Given the description of an element on the screen output the (x, y) to click on. 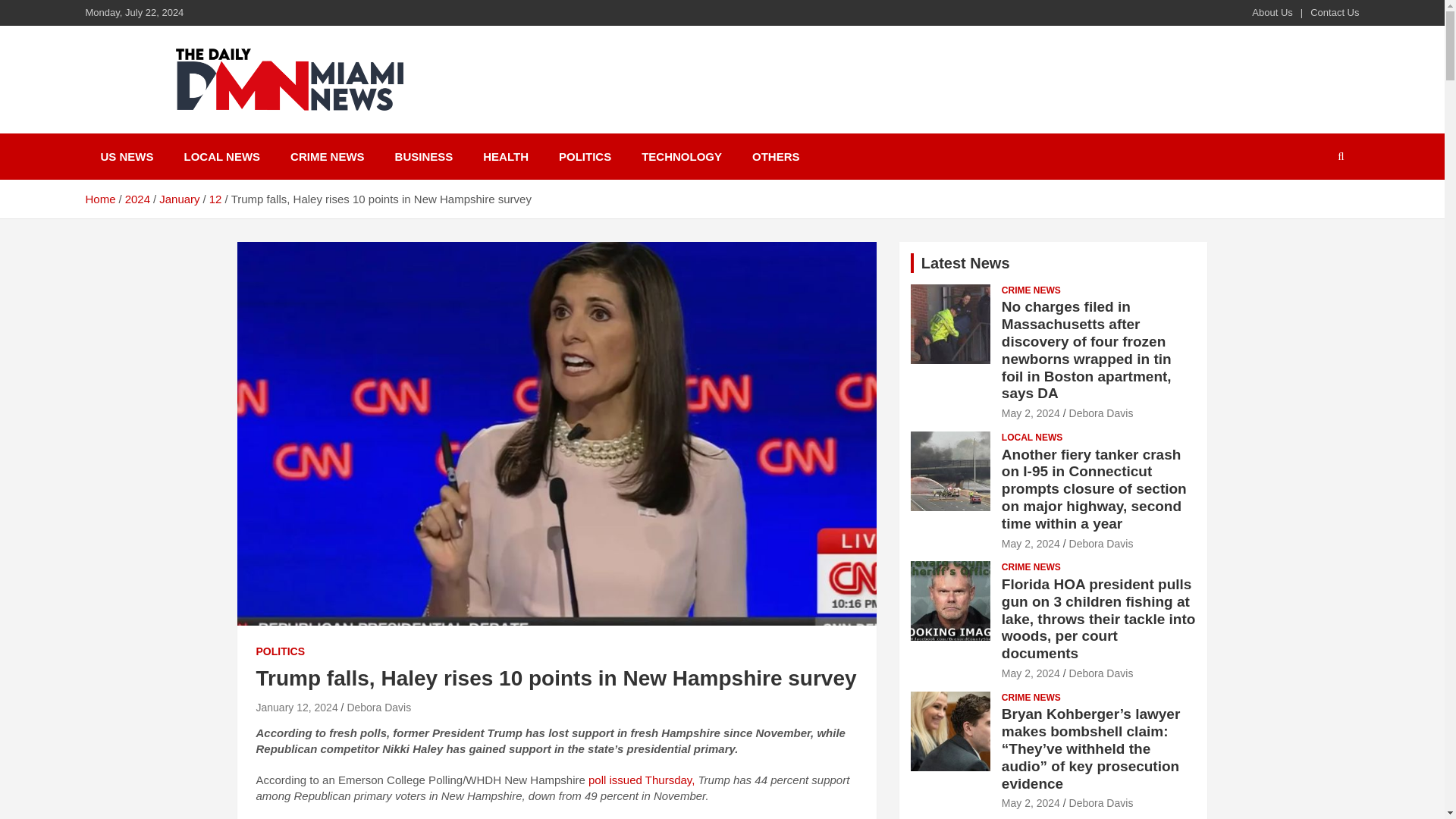
Debora Davis (1101, 413)
About Us (1272, 12)
Debora Davis (378, 707)
Contact Us (1334, 12)
CRIME NEWS (327, 156)
POLITICS (280, 652)
HEALTH (505, 156)
Latest News (965, 262)
12 (215, 198)
May 2, 2024 (1030, 543)
January 12, 2024 (296, 707)
POLITICS (584, 156)
2024 (137, 198)
Home (99, 198)
